Given the description of an element on the screen output the (x, y) to click on. 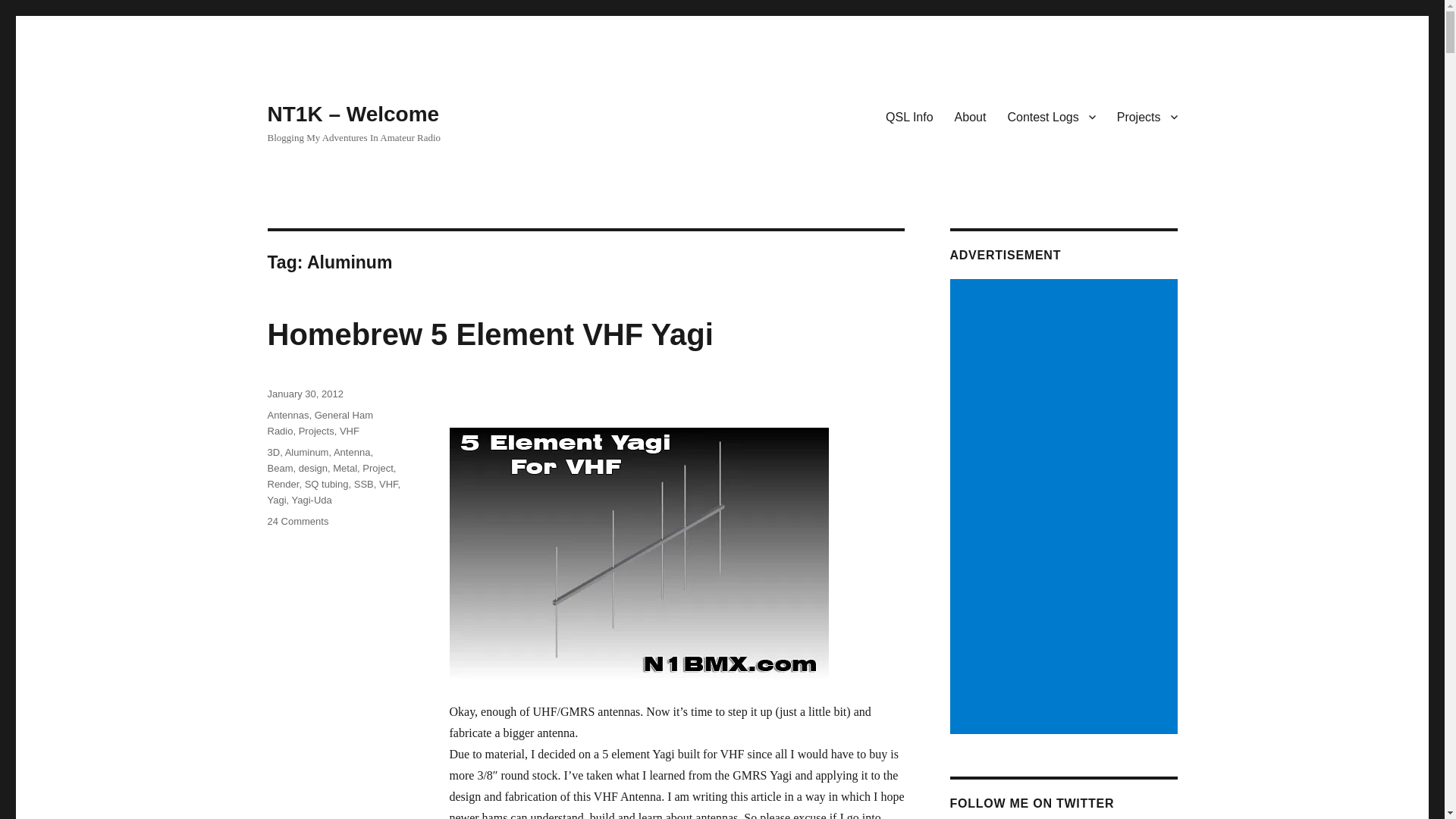
Contest Logs (1050, 116)
QSL Info (909, 116)
Projects (1147, 116)
About (970, 116)
Homebrew 5 Element VHF Yagi (489, 334)
